Given the description of an element on the screen output the (x, y) to click on. 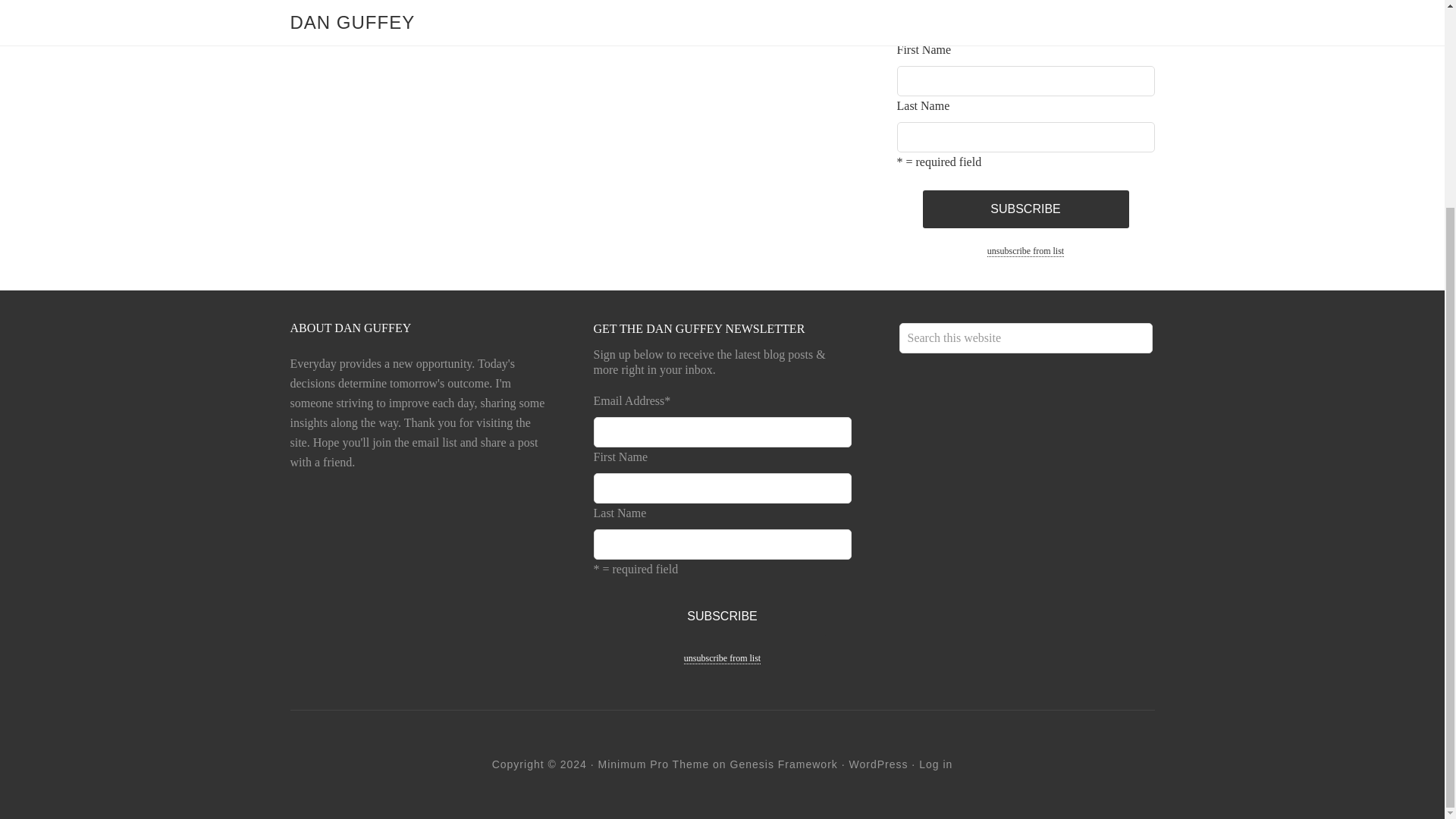
WordPress (877, 764)
Subscribe (1024, 209)
Subscribe (1024, 209)
Subscribe (721, 616)
Minimum Pro Theme (654, 764)
unsubscribe from list (1025, 251)
Genesis Framework (784, 764)
Log in (935, 764)
unsubscribe from list (722, 658)
Subscribe (721, 616)
